Given the description of an element on the screen output the (x, y) to click on. 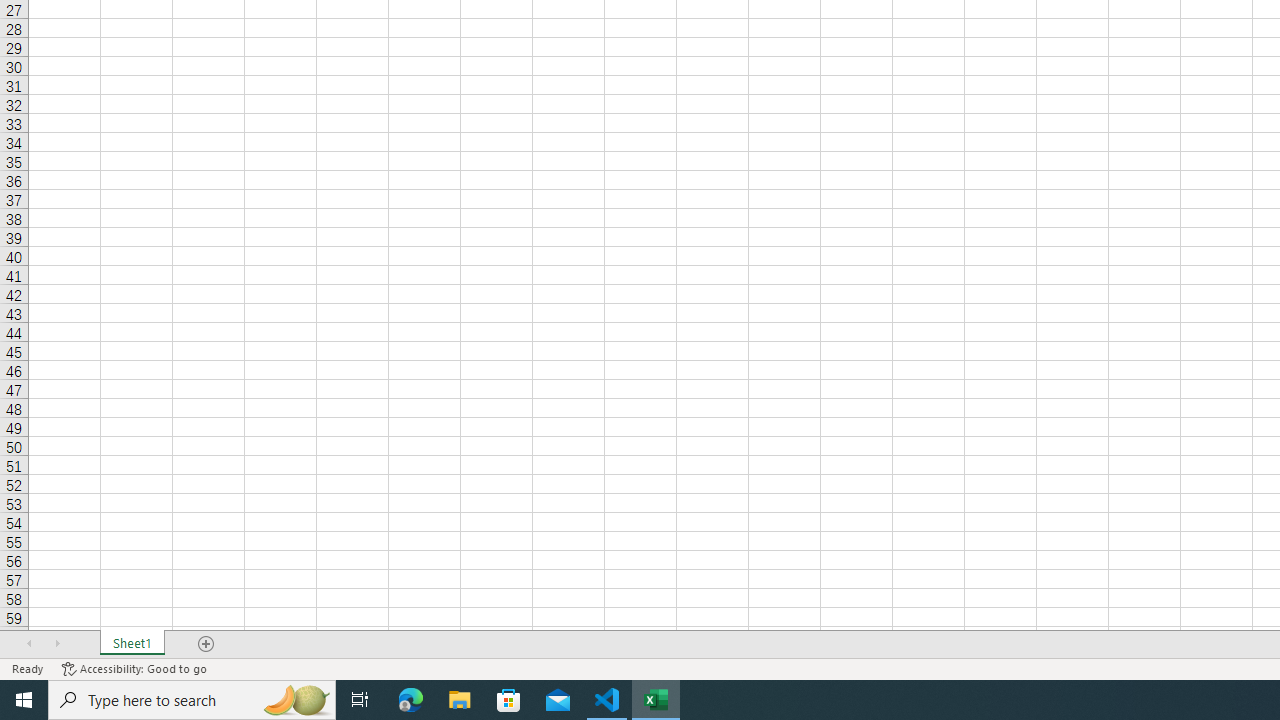
Accessibility Checker Accessibility: Good to go (134, 668)
